Given the description of an element on the screen output the (x, y) to click on. 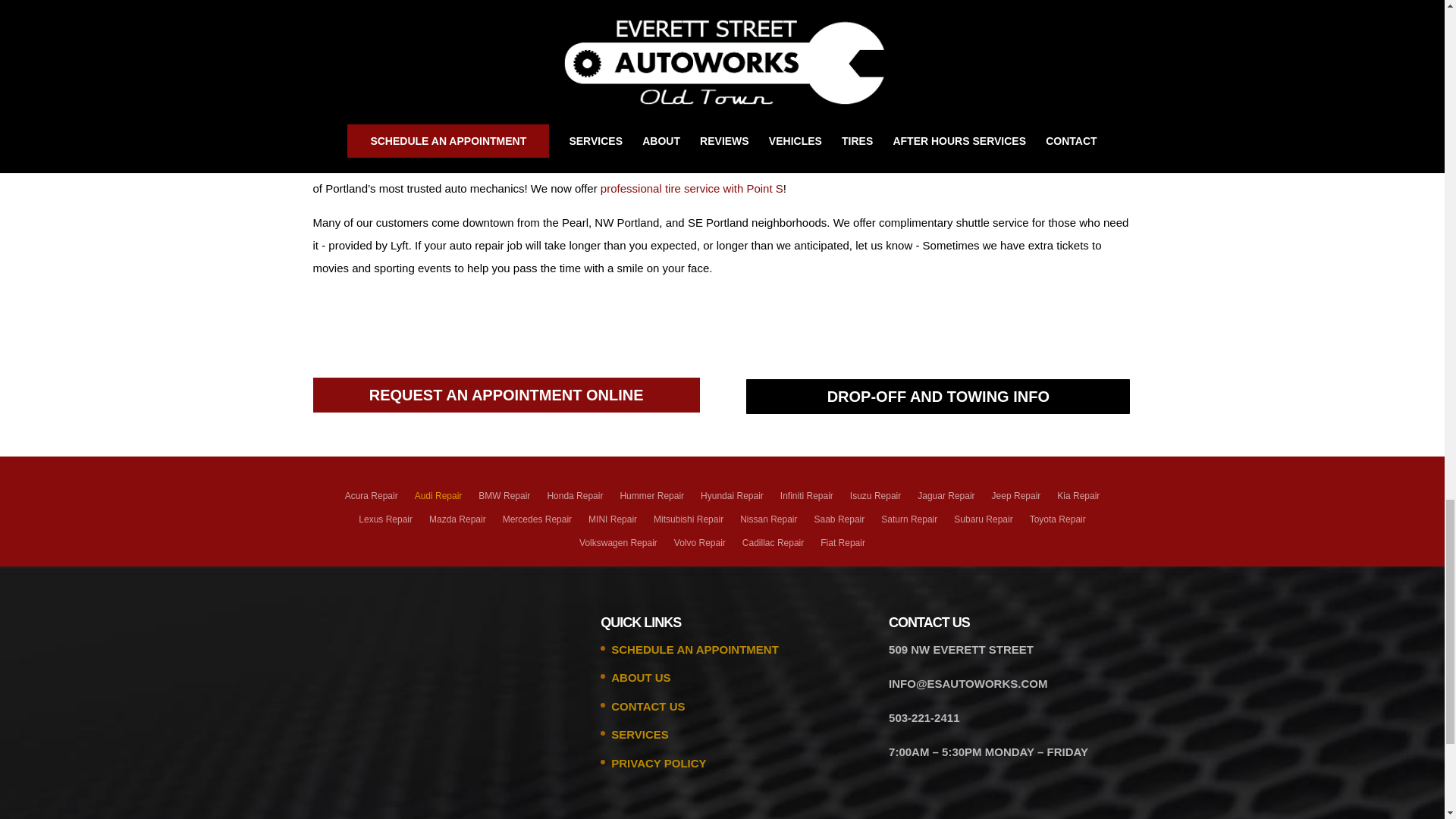
Infiniti Repair (806, 500)
Audi Repair (438, 500)
Hummer Repair (652, 500)
professional tire service with Point S (691, 187)
BMW Repair (504, 500)
Mazda Repair (457, 523)
NEED SOME NEW TIRES? (937, 10)
CALL US NOW (505, 8)
DROP-OFF AND TOWING INFO (937, 396)
Isuzu Repair (875, 500)
Jeep Repair (1016, 500)
Kia Repair (1078, 500)
certified mechanics (810, 164)
Honda Repair (574, 500)
